Given the description of an element on the screen output the (x, y) to click on. 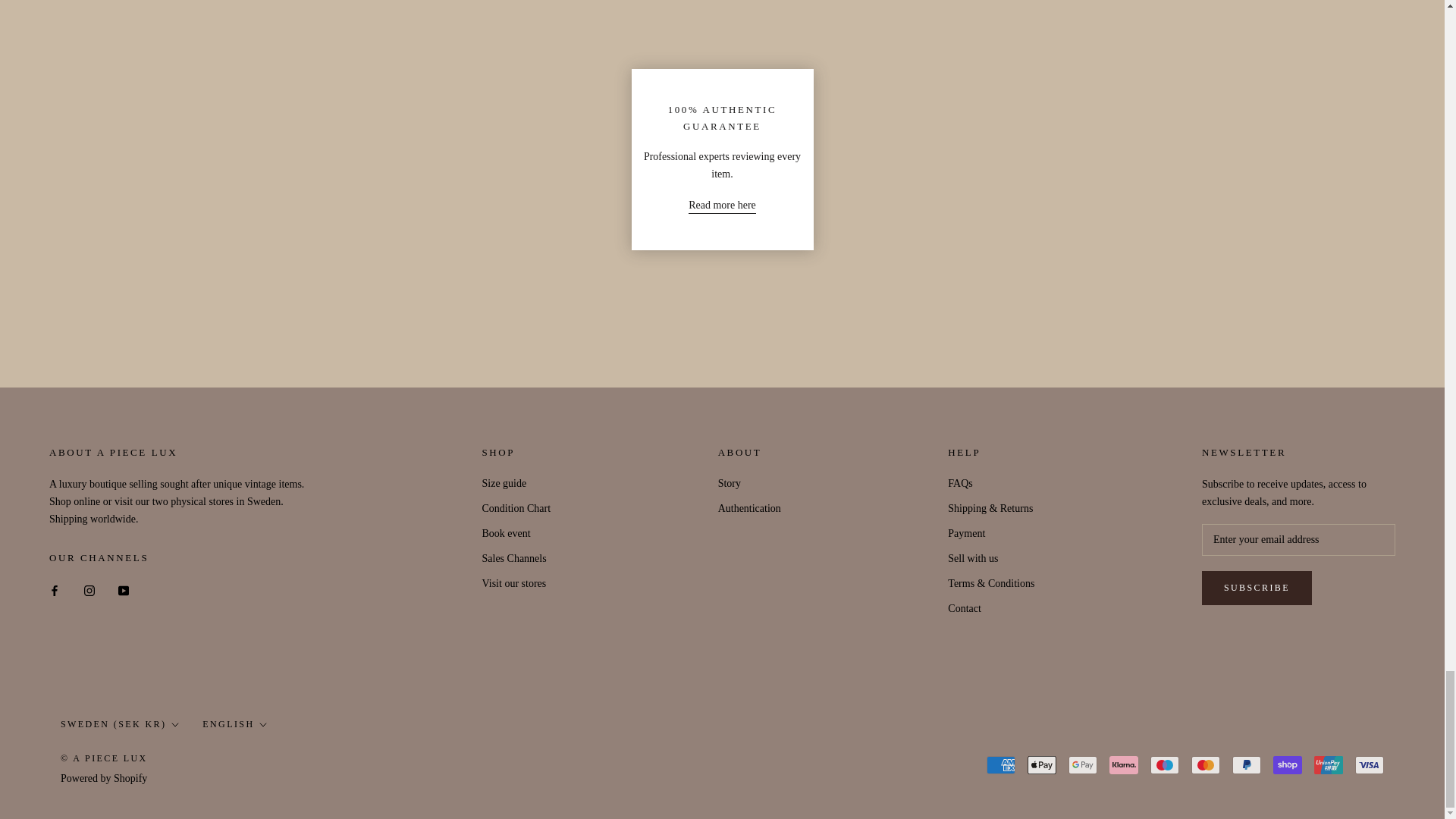
American Express (1000, 764)
Apple Pay (1042, 764)
Google Pay (1082, 764)
Klarna (1123, 764)
